Given the description of an element on the screen output the (x, y) to click on. 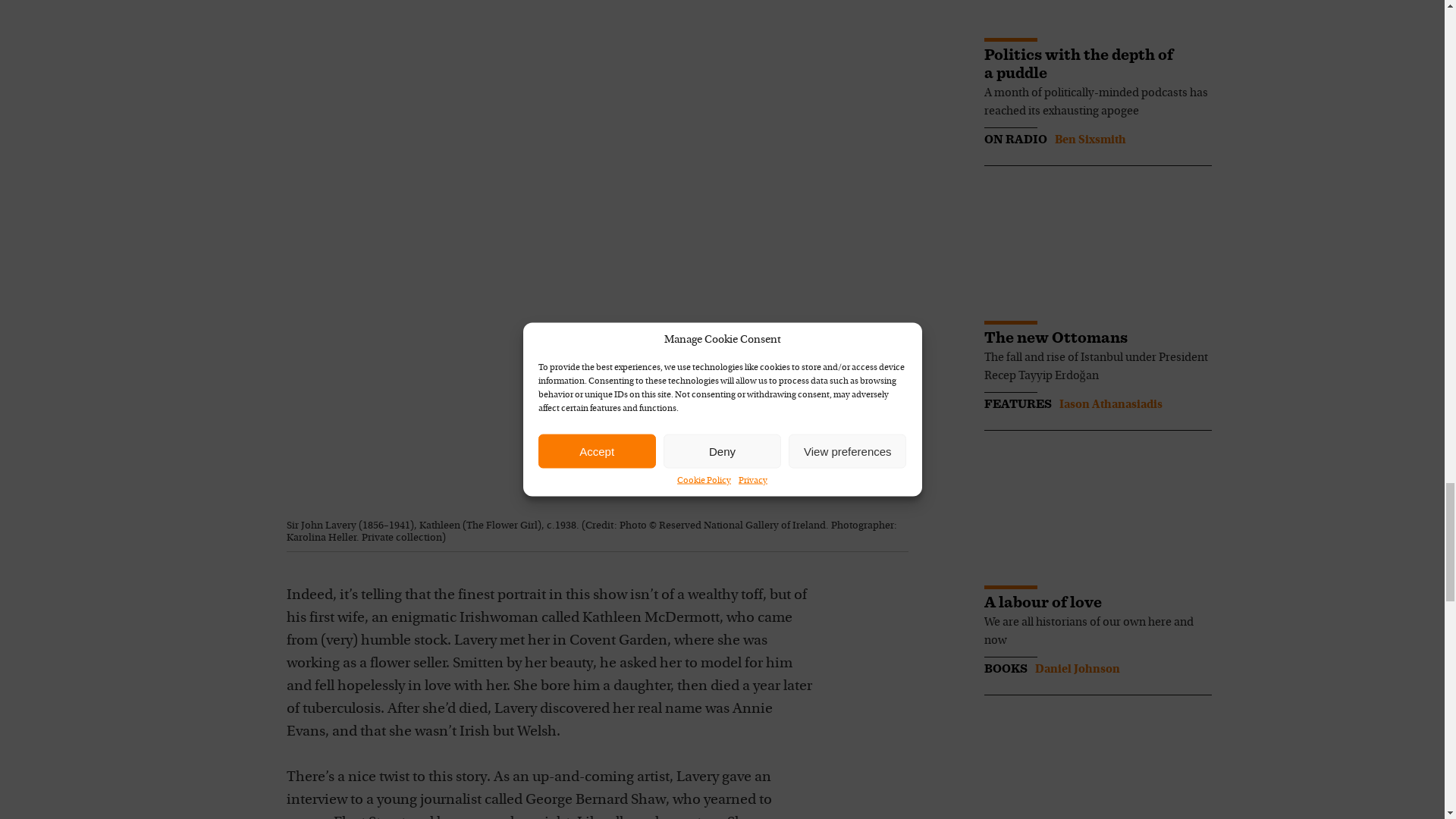
Posts by Iason Athanasiadis (1109, 404)
Posts by Ben Sixsmith (1089, 140)
Posts by Daniel Johnson (1076, 669)
